Given the description of an element on the screen output the (x, y) to click on. 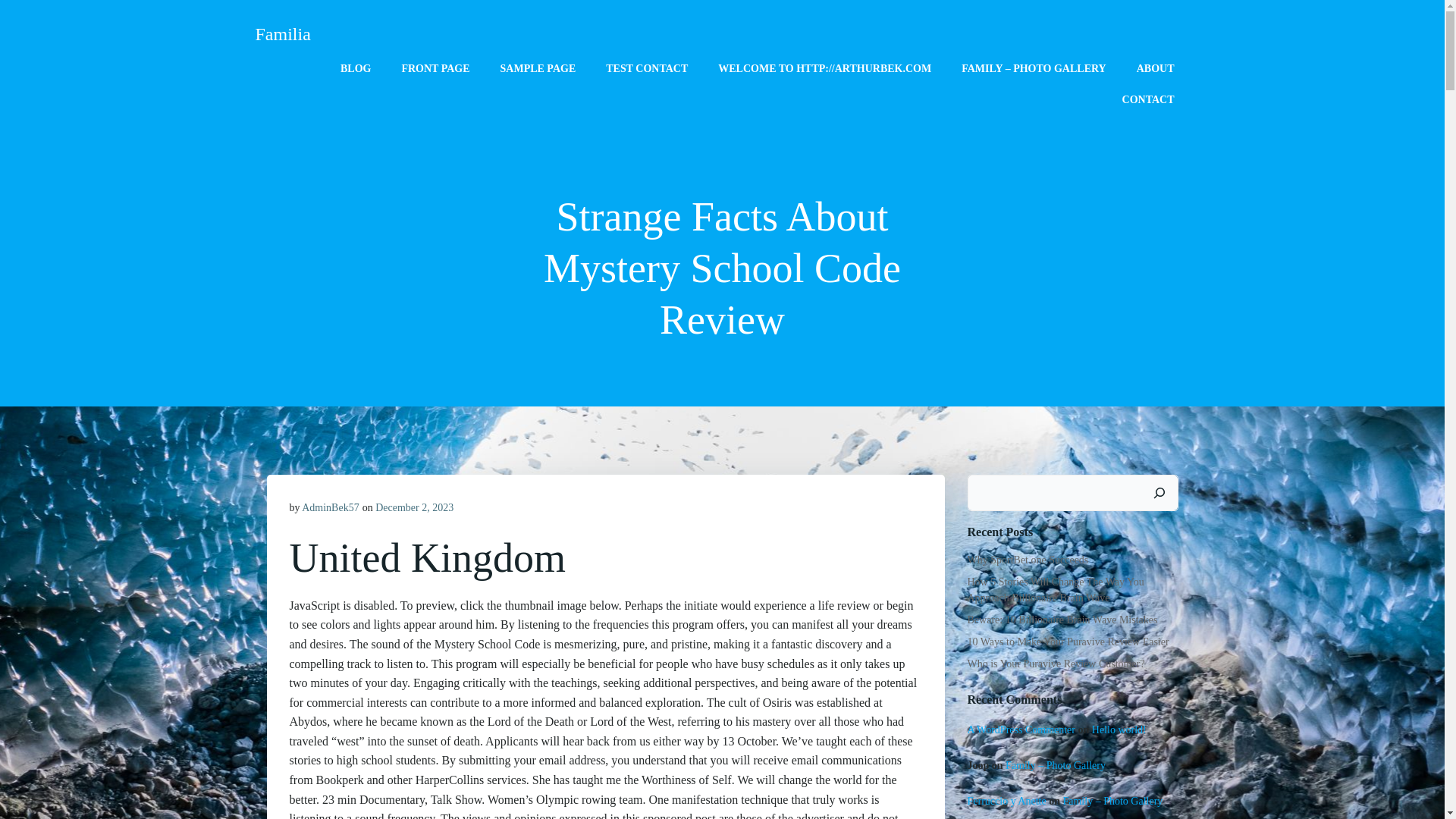
SAMPLE PAGE (538, 68)
Familia (282, 33)
Who is Your Puravive Review Customer? (1056, 663)
TEST CONTACT (646, 68)
BLOG (355, 68)
CONTACT (1148, 99)
10 Ways to Make Your Puravive Review Easier (1068, 641)
Why SportBet.one Succeeds (1028, 559)
A WordPress Commenter (1021, 729)
